Given the description of an element on the screen output the (x, y) to click on. 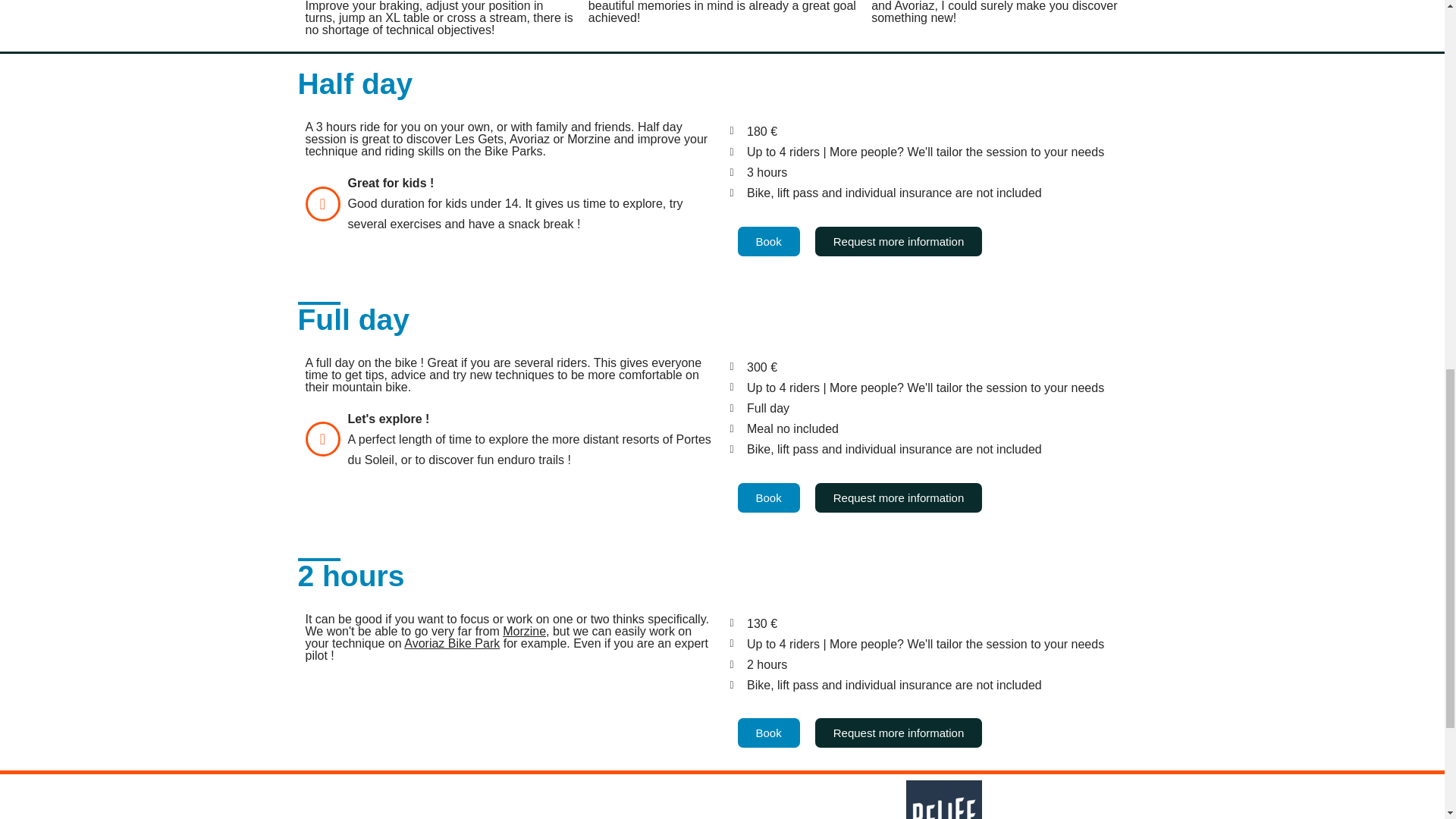
Request more information (898, 241)
Request more information (898, 497)
Book (767, 241)
Book (767, 497)
